Given the description of an element on the screen output the (x, y) to click on. 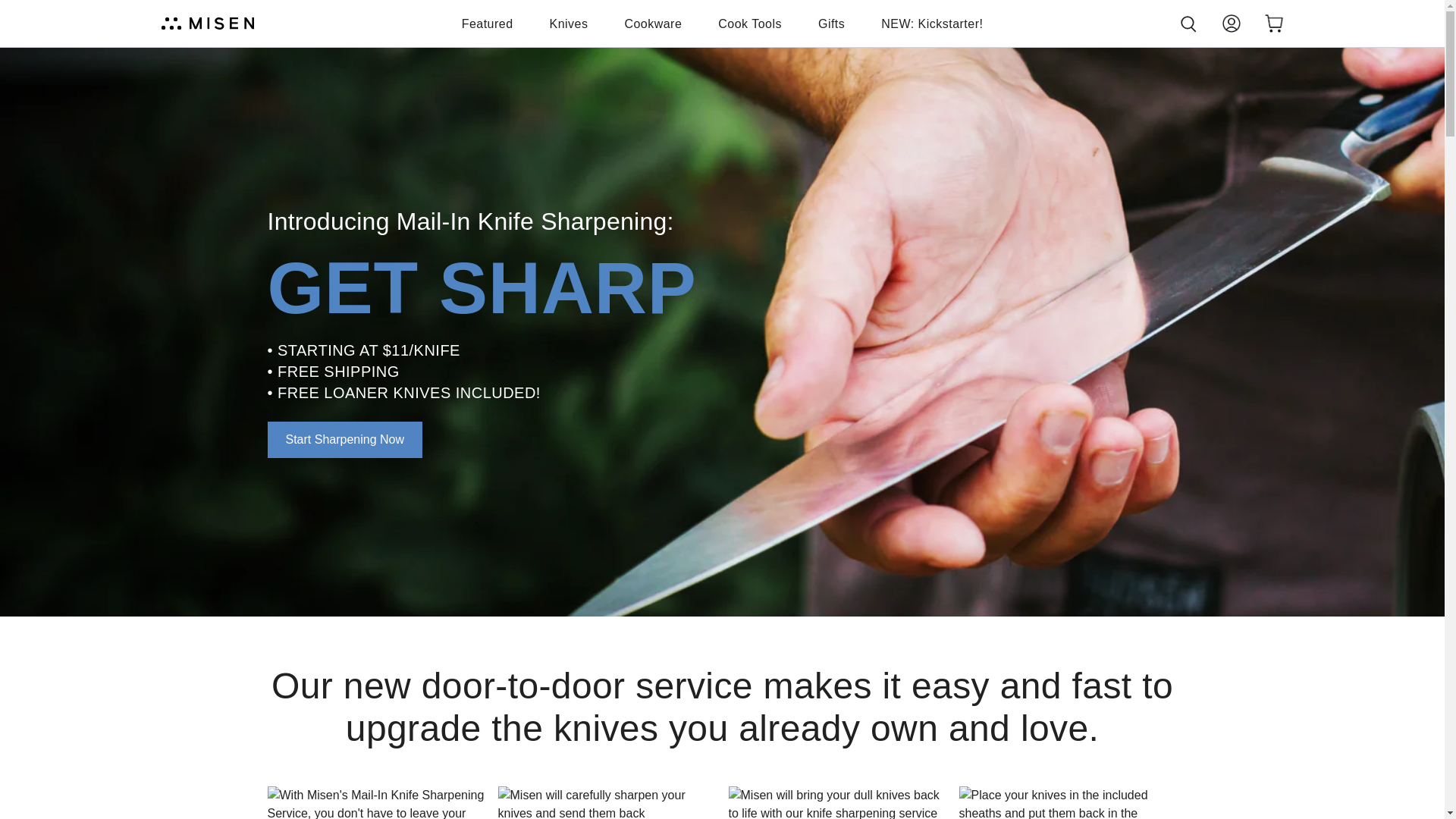
Knives (569, 24)
Cook Tools (749, 24)
Featured (487, 24)
Skip to content (17, 8)
NEW: Kickstarter! (931, 24)
Gifts (831, 24)
Cookware (652, 24)
